Given the description of an element on the screen output the (x, y) to click on. 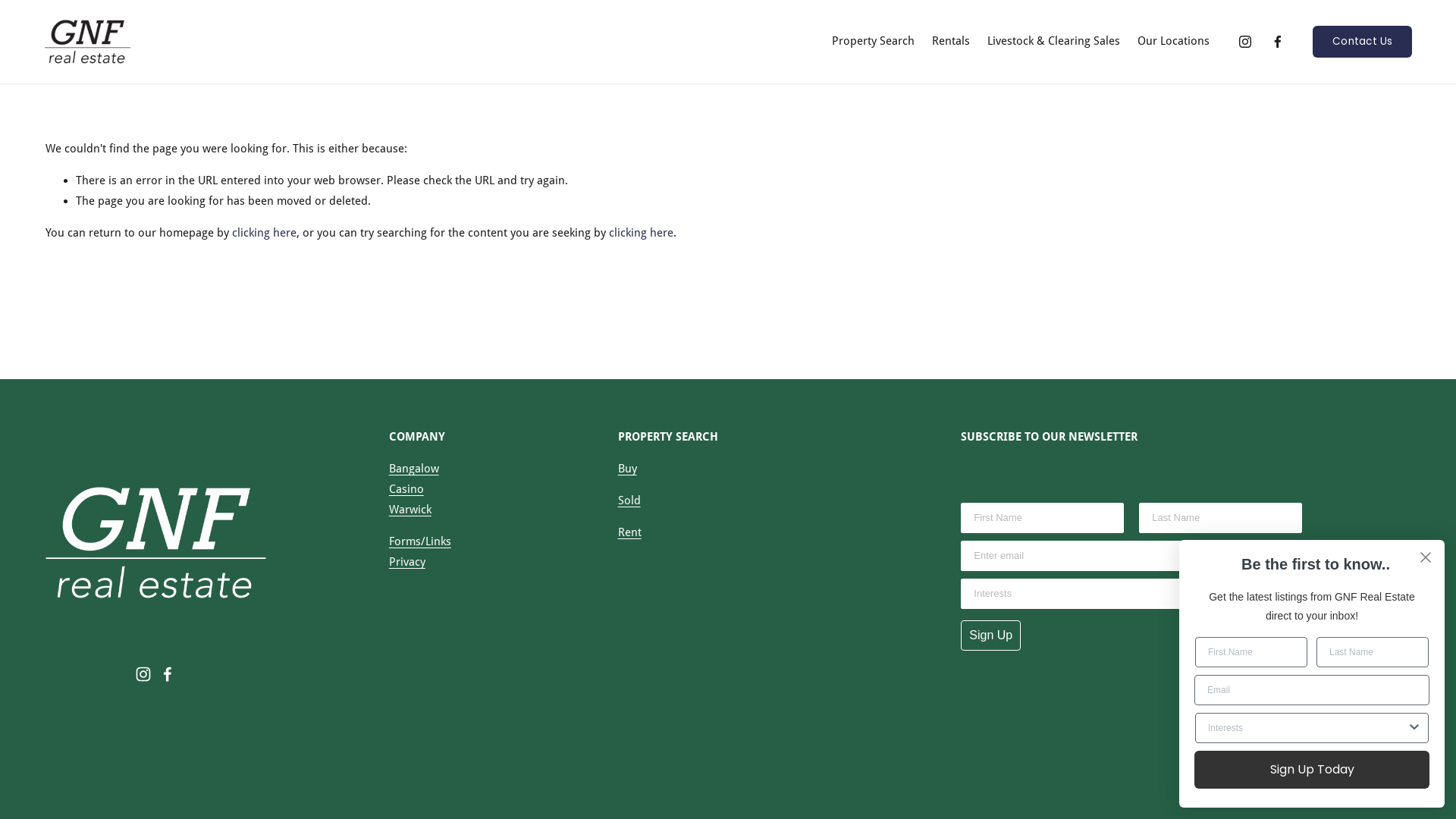
clicking here Element type: text (640, 232)
Sign Up Element type: text (990, 635)
Livestock & Clearing Sales Element type: text (1053, 41)
Rent Element type: text (629, 532)
Contact Us Element type: text (1362, 41)
clicking here Element type: text (264, 232)
Submit Element type: text (24, 9)
Our Locations Element type: text (1173, 41)
Casino Element type: text (406, 489)
Rentals Element type: text (950, 41)
Submit Element type: text (25, 9)
Forms/Links Element type: text (420, 541)
Sign Up Today Element type: text (1311, 769)
Buy Element type: text (627, 468)
Warwick Element type: text (410, 509)
Privacy Element type: text (407, 562)
Bangalow Element type: text (414, 468)
Sold Element type: text (629, 500)
Property Search Element type: text (872, 41)
